Given the description of an element on the screen output the (x, y) to click on. 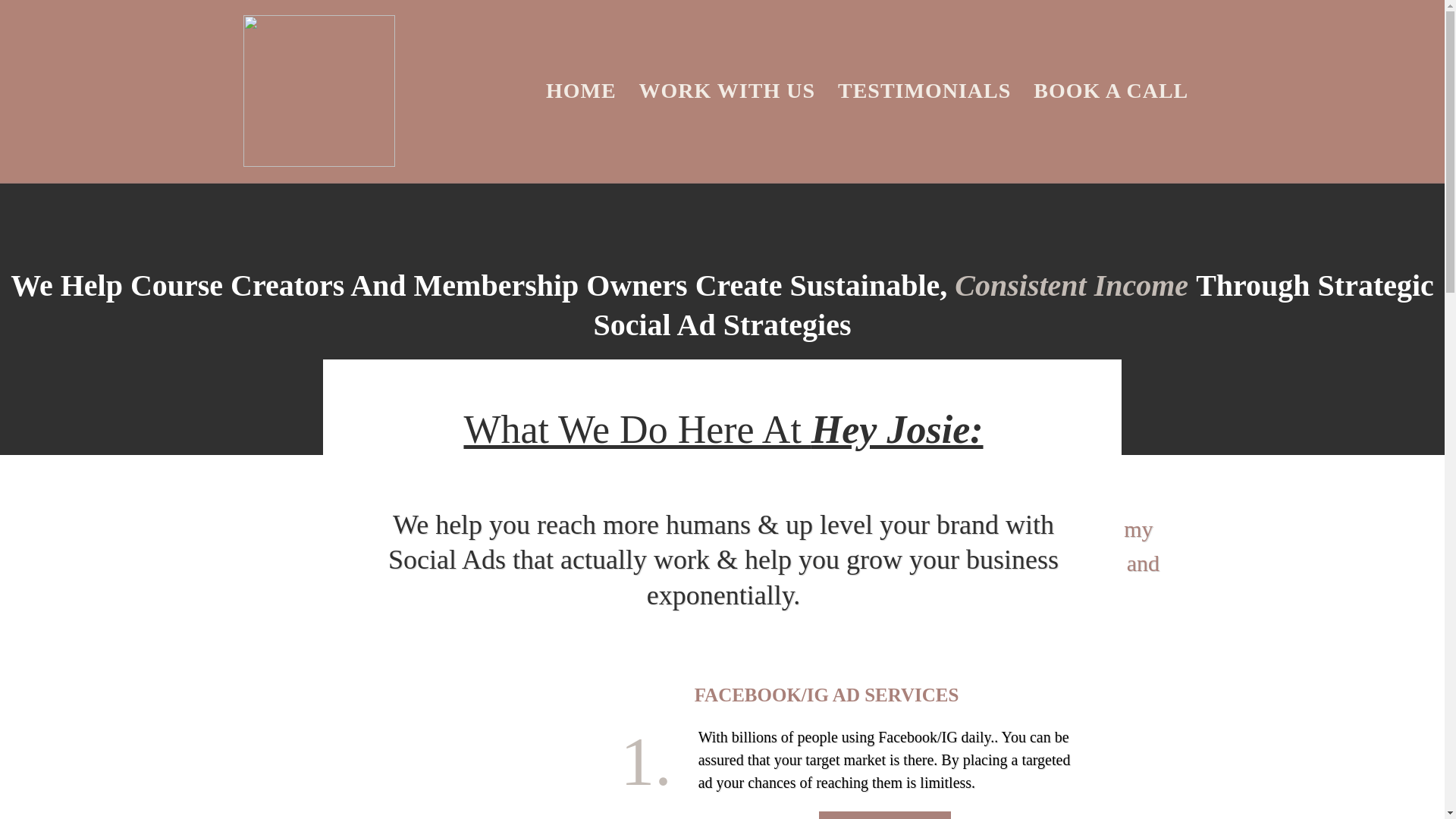
HOME (580, 91)
I WANT YOUR STRATEGY (903, 651)
WORK WITH US (727, 91)
READ MORE (884, 815)
BOOK A CALL (1110, 91)
TESTIMONIALS (924, 91)
